Given the description of an element on the screen output the (x, y) to click on. 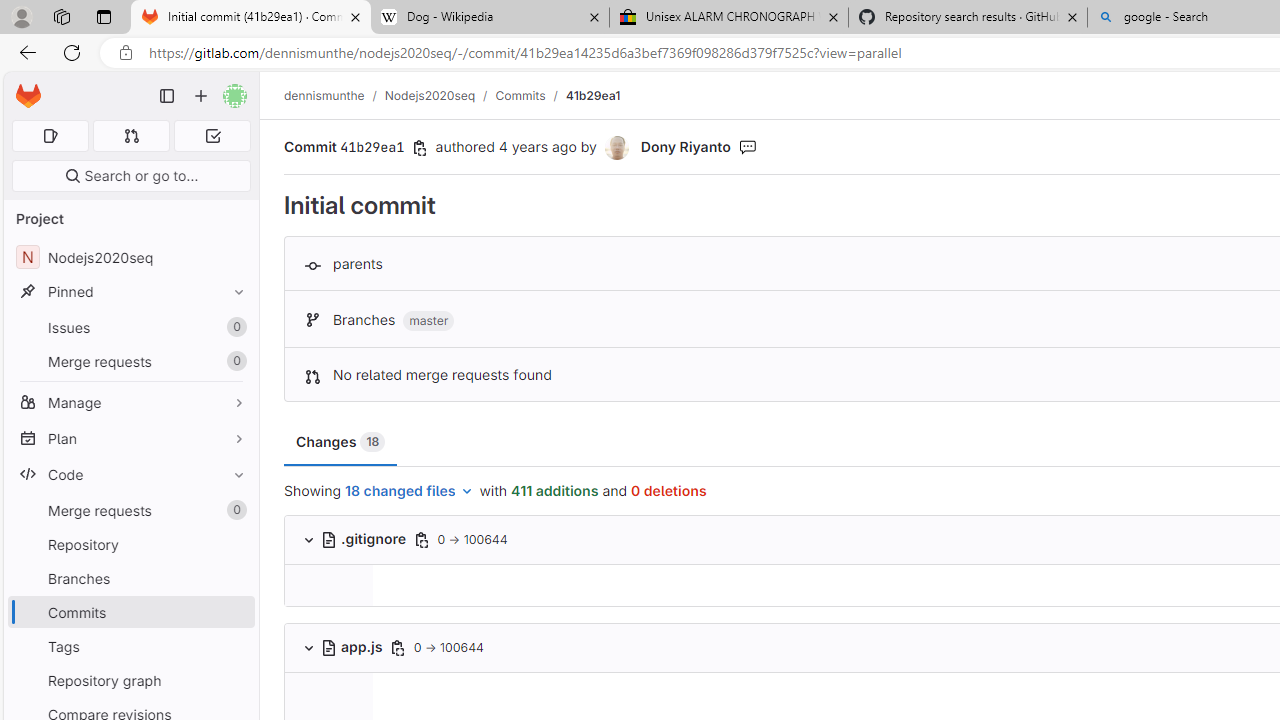
Dony Riyanto's avatar (616, 148)
Pin Repository (234, 544)
Dog - Wikipedia (490, 17)
Pin Tags (234, 646)
Skip to main content (23, 87)
Primary navigation sidebar (167, 96)
41b29ea1 (592, 95)
Branches (130, 578)
Code (130, 474)
master (428, 321)
